Given the description of an element on the screen output the (x, y) to click on. 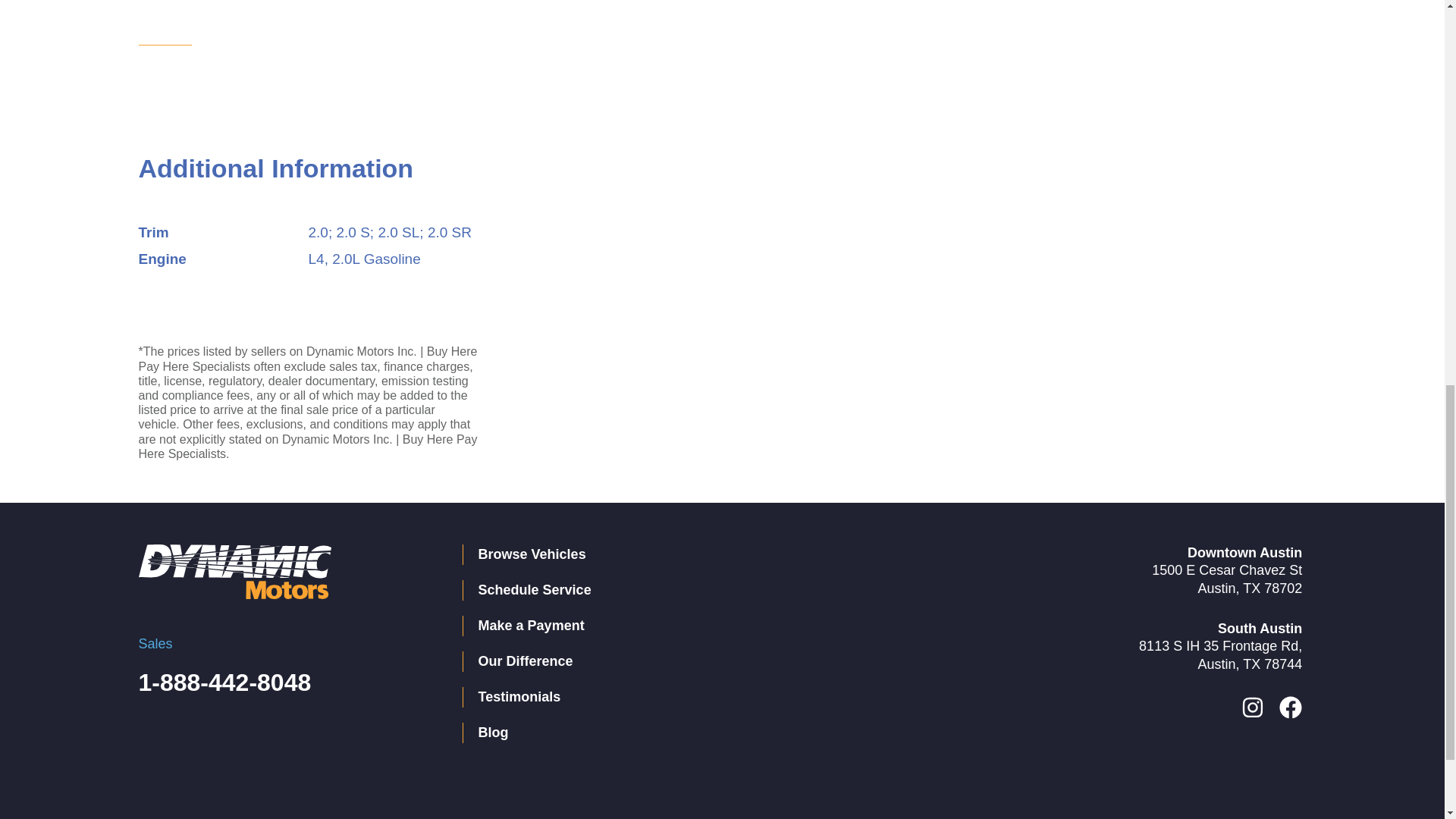
Our Difference (685, 661)
Browse Vehicles (685, 554)
Testimonials (685, 697)
Make a Payment (685, 625)
1-888-442-8048 (224, 682)
Schedule Service (685, 589)
Blog (685, 732)
